Given the description of an element on the screen output the (x, y) to click on. 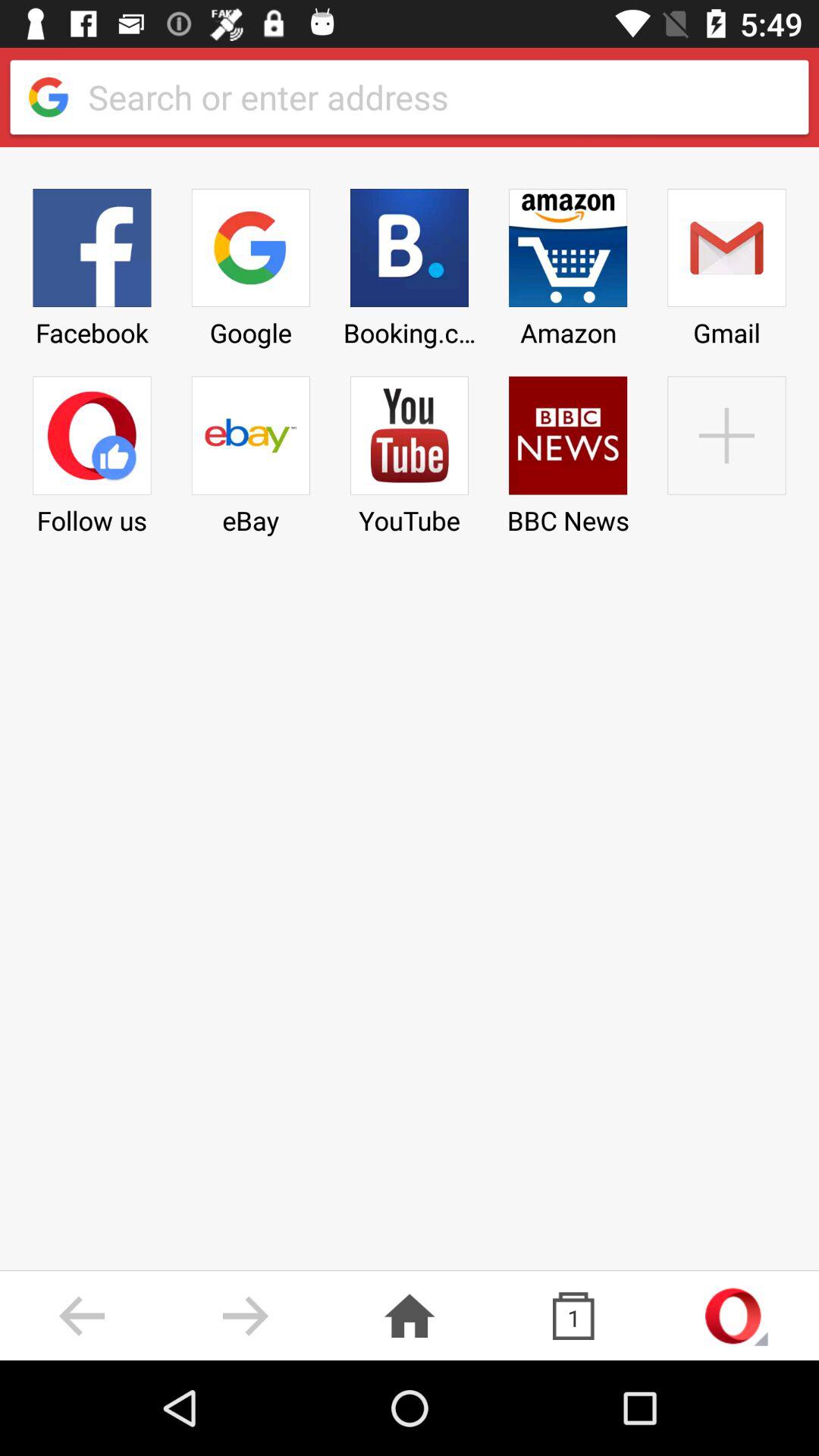
text search bar (434, 97)
